Given the description of an element on the screen output the (x, y) to click on. 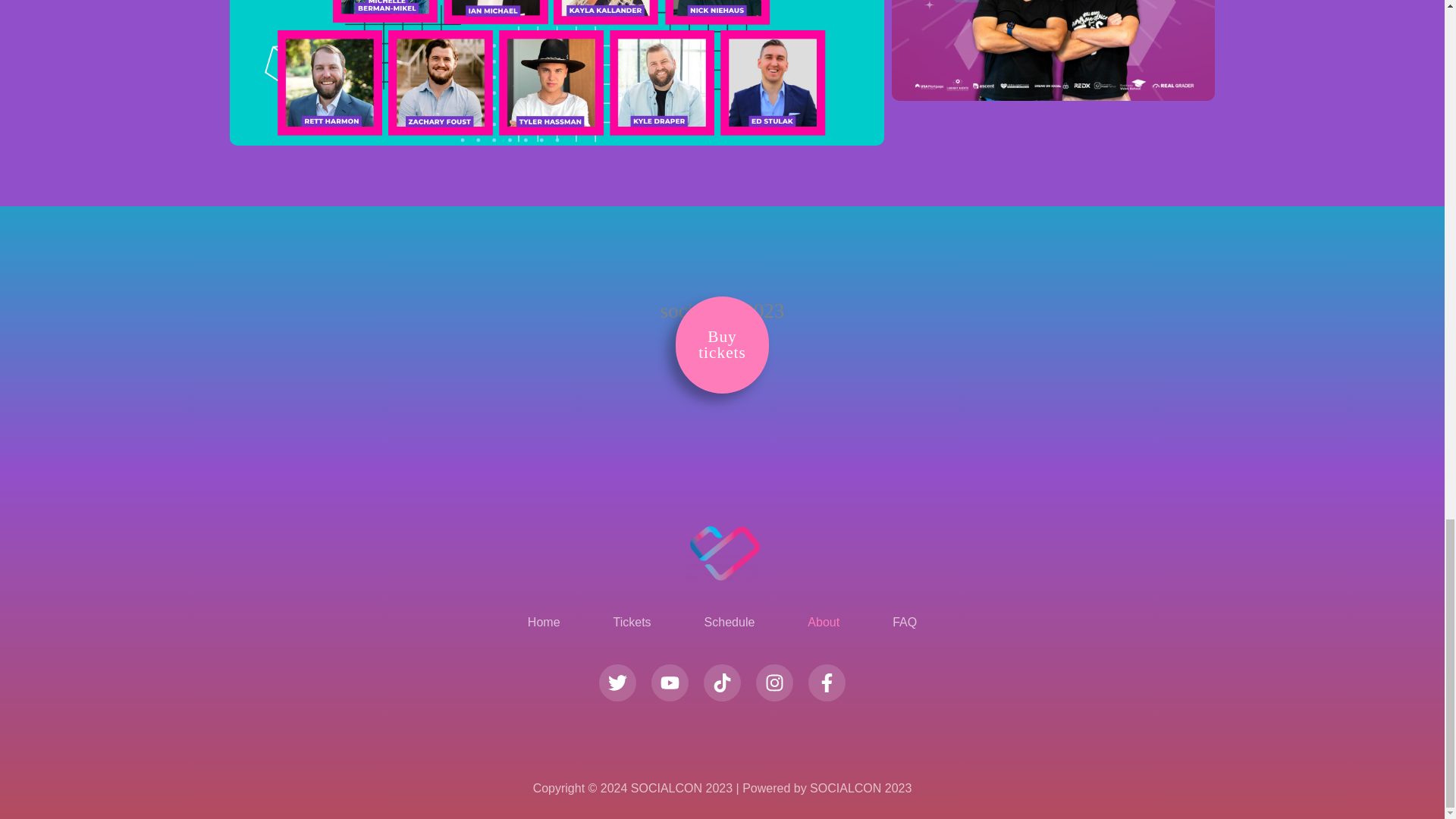
Home (721, 344)
Schedule (543, 622)
FAQ (729, 622)
About (904, 622)
Tickets (823, 622)
